Given the description of an element on the screen output the (x, y) to click on. 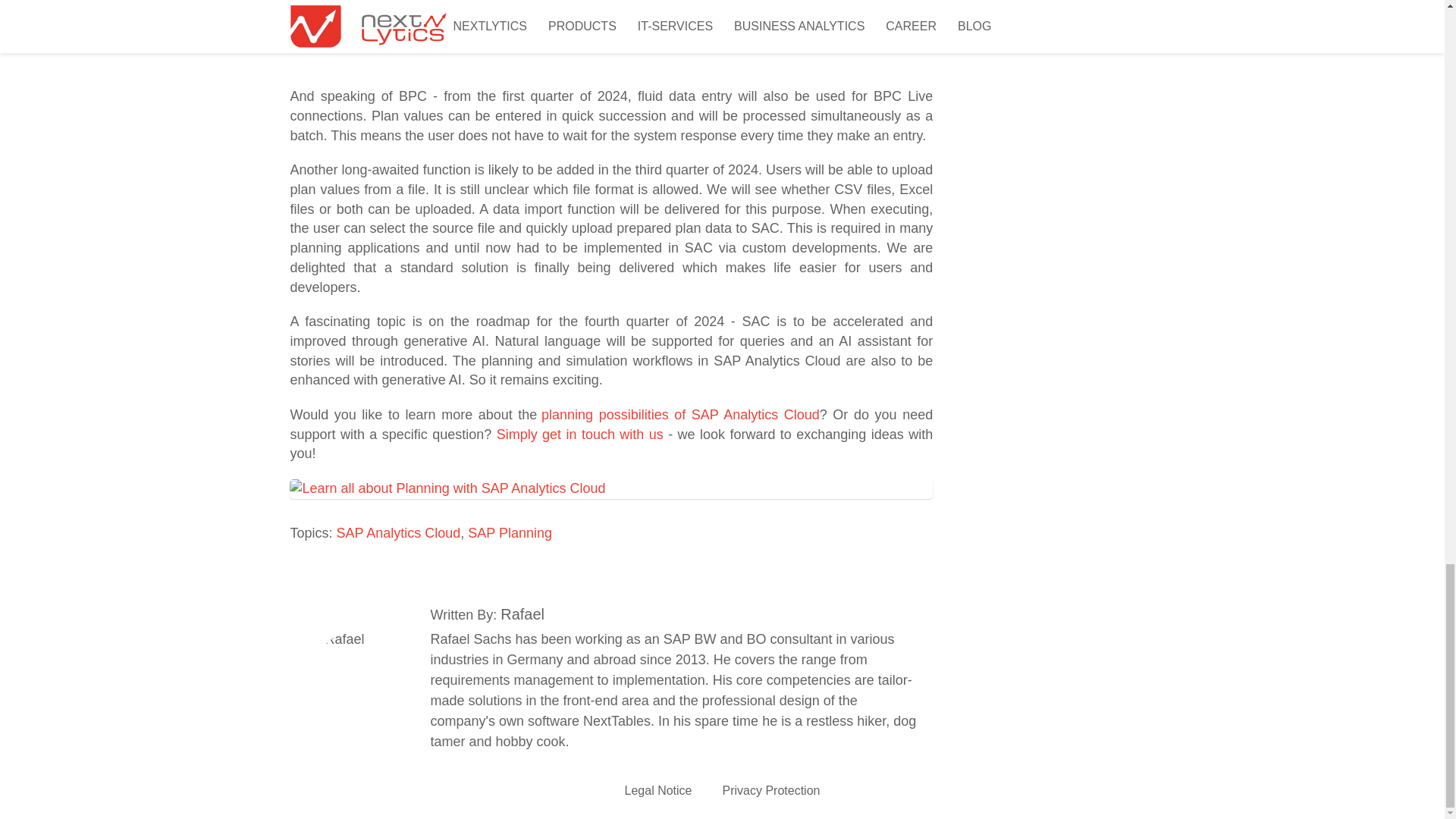
Rafael (358, 675)
